Given the description of an element on the screen output the (x, y) to click on. 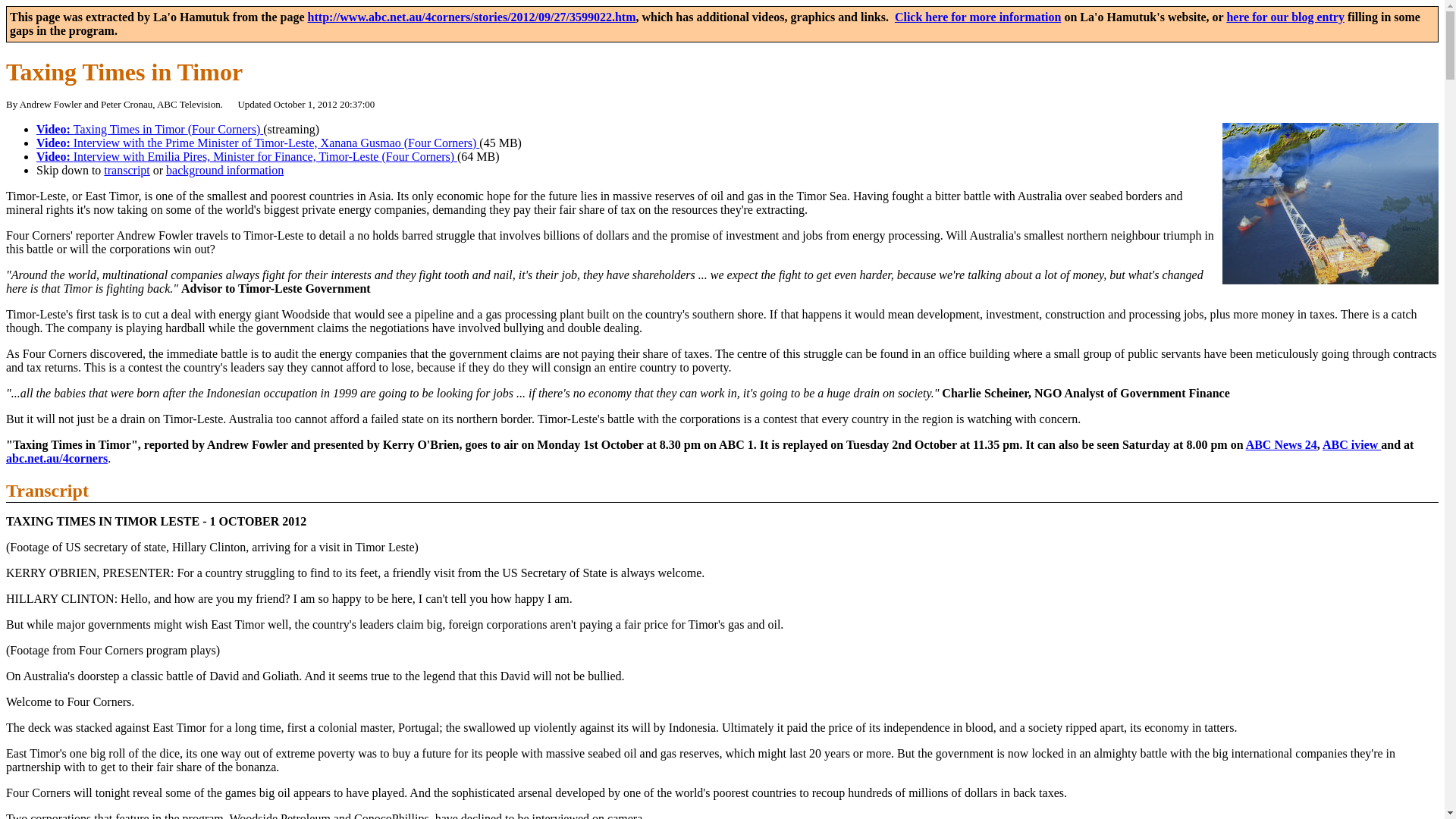
ABC News 24 (1281, 444)
background information (224, 169)
ABC iview (1351, 444)
here for our blog entry (1284, 16)
Click here for more information (978, 16)
transcript (126, 169)
Transcript (46, 490)
